Given the description of an element on the screen output the (x, y) to click on. 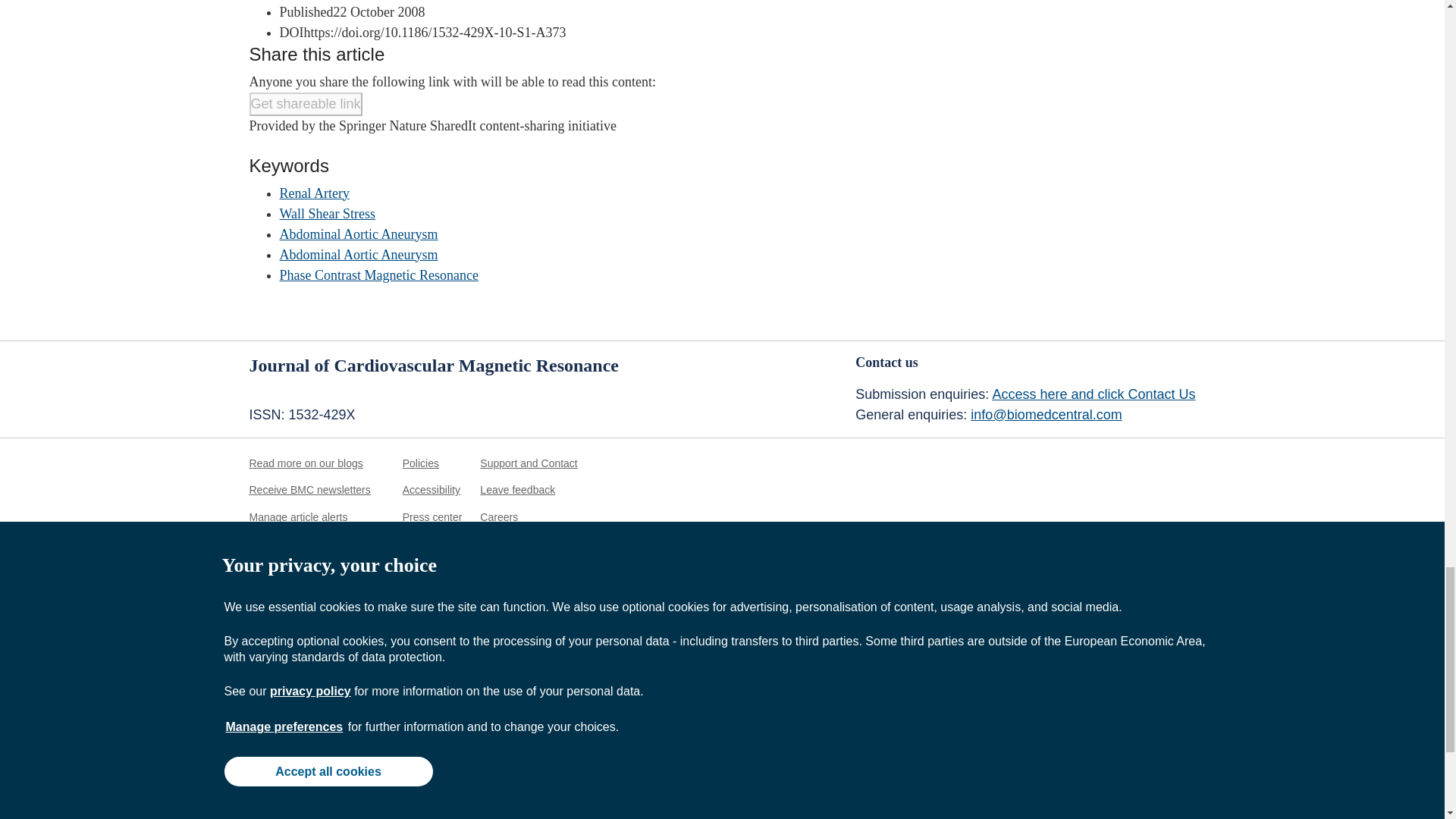
Digital Object Identifier (290, 32)
